Given the description of an element on the screen output the (x, y) to click on. 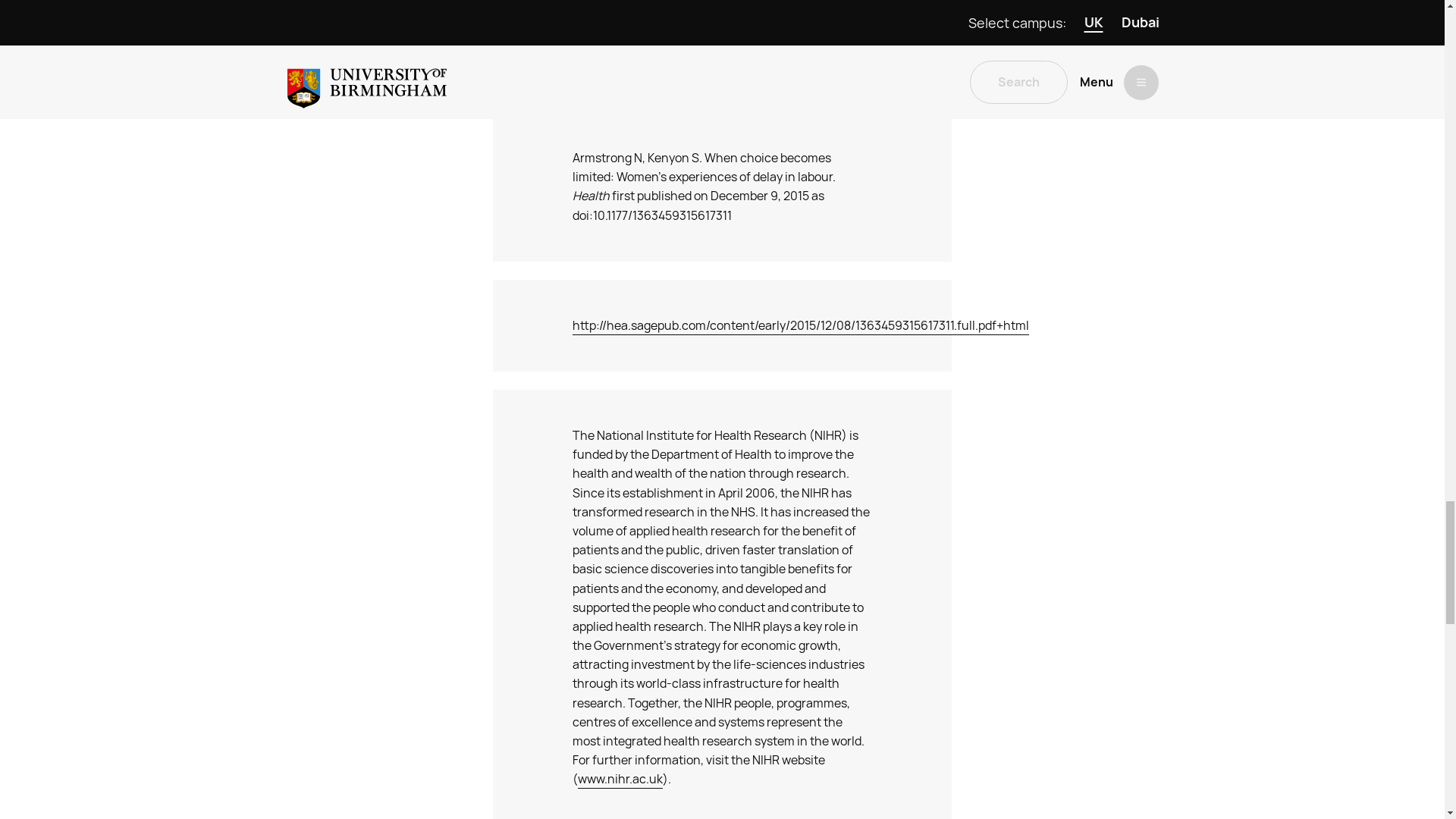
www.nihr.ac.uk (620, 779)
